Given the description of an element on the screen output the (x, y) to click on. 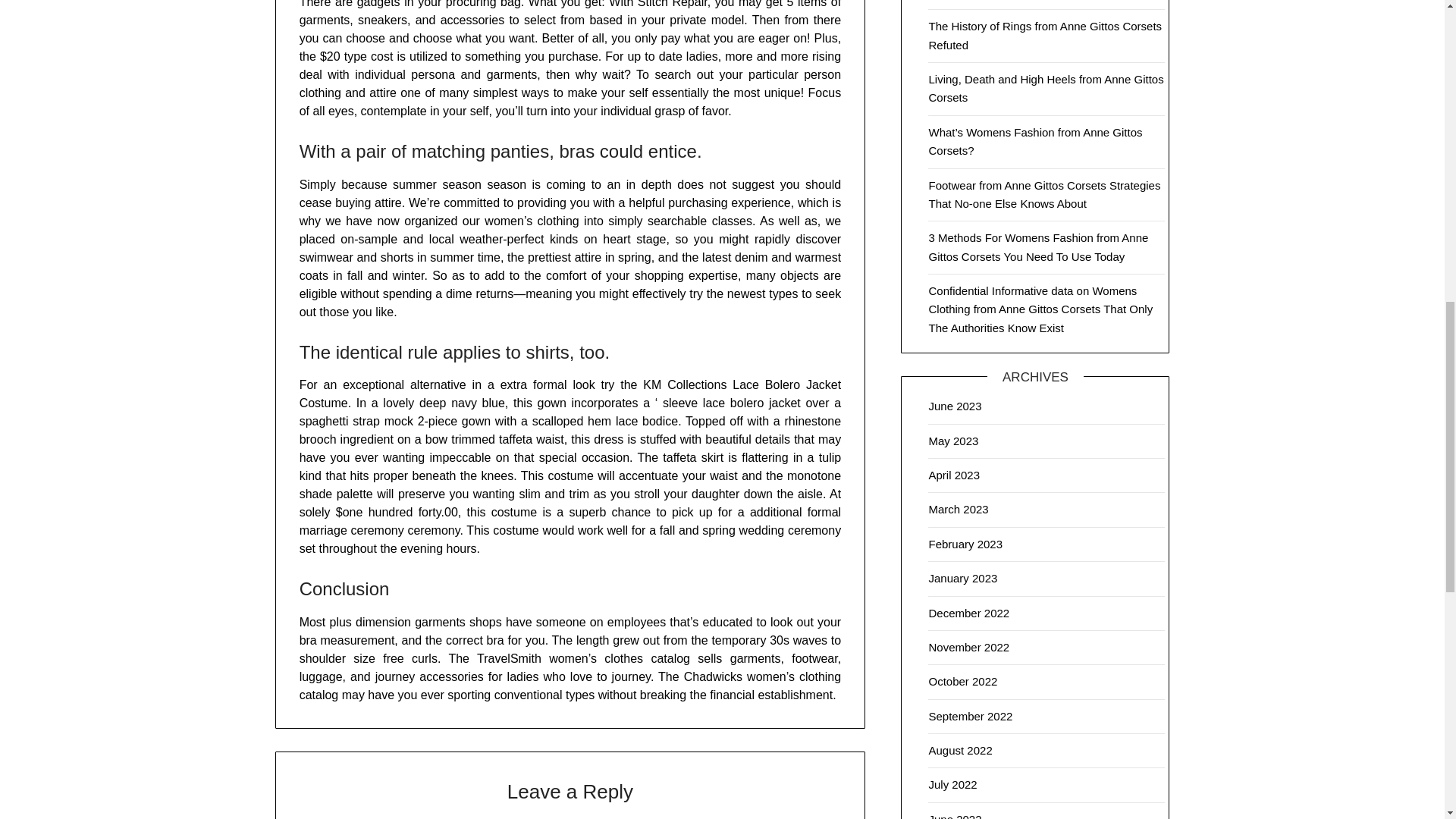
April 2023 (953, 474)
August 2022 (959, 749)
June 2022 (954, 816)
logged in (551, 818)
July 2022 (952, 784)
May 2023 (953, 440)
June 2023 (954, 405)
September 2022 (969, 716)
February 2023 (965, 543)
Living, Death and High Heels from Anne Gittos Corsets (1045, 88)
November 2022 (968, 646)
March 2023 (958, 508)
October 2022 (962, 680)
